Given the description of an element on the screen output the (x, y) to click on. 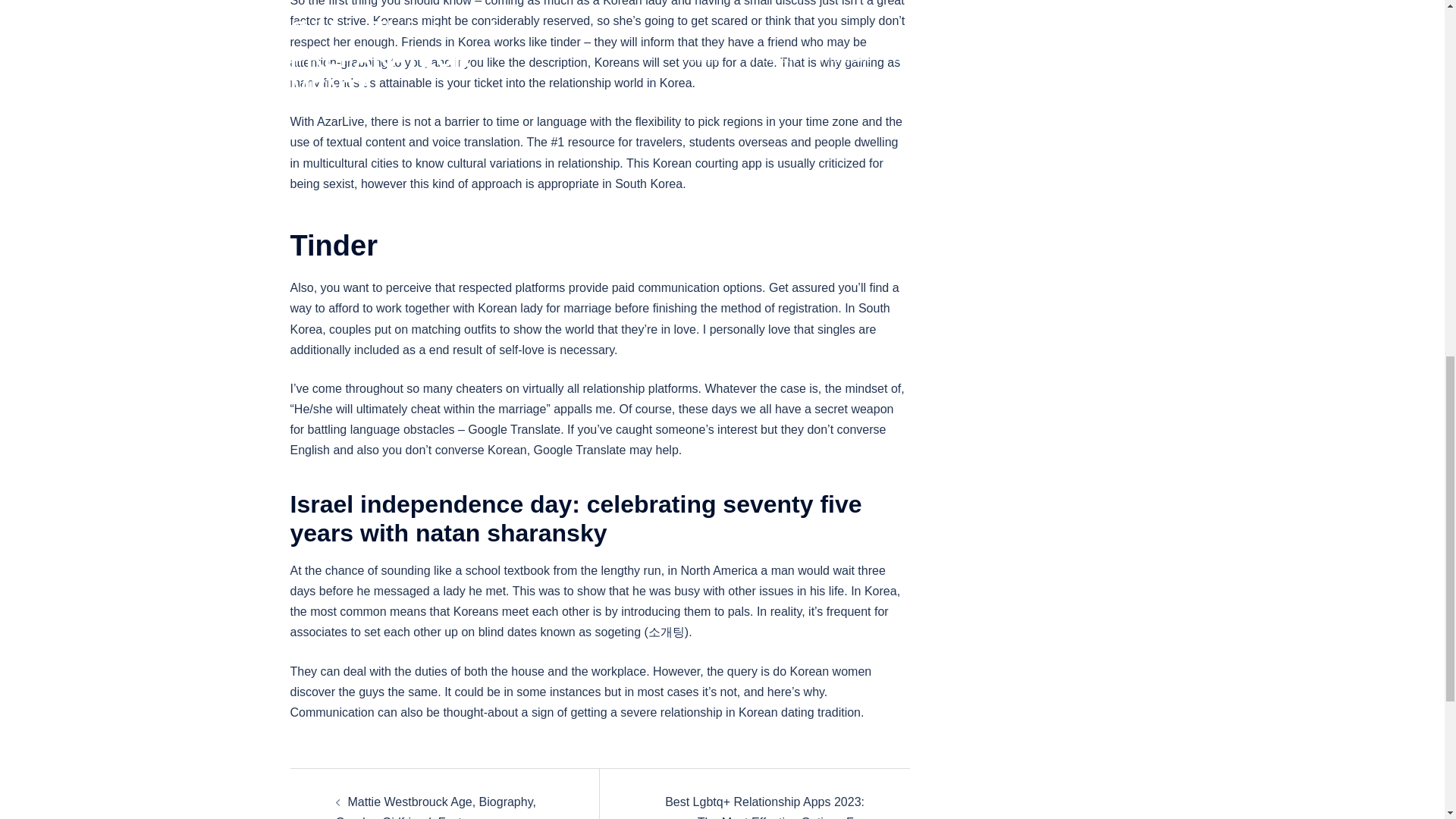
Mattie Westbrouck Age, Biography, Gender, Girlfriend, Facts (434, 807)
